Given the description of an element on the screen output the (x, y) to click on. 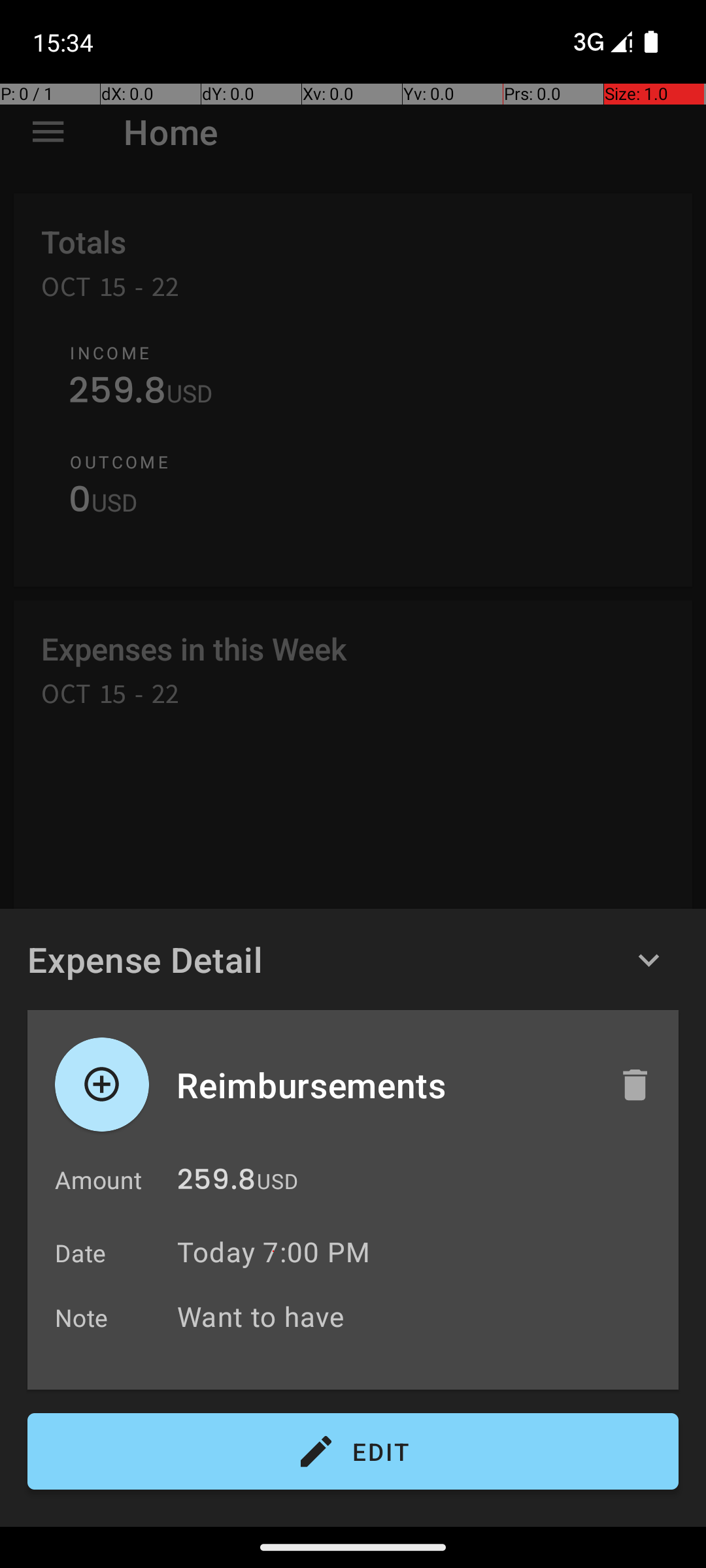
259.8 Element type: android.widget.TextView (216, 1182)
